Given the description of an element on the screen output the (x, y) to click on. 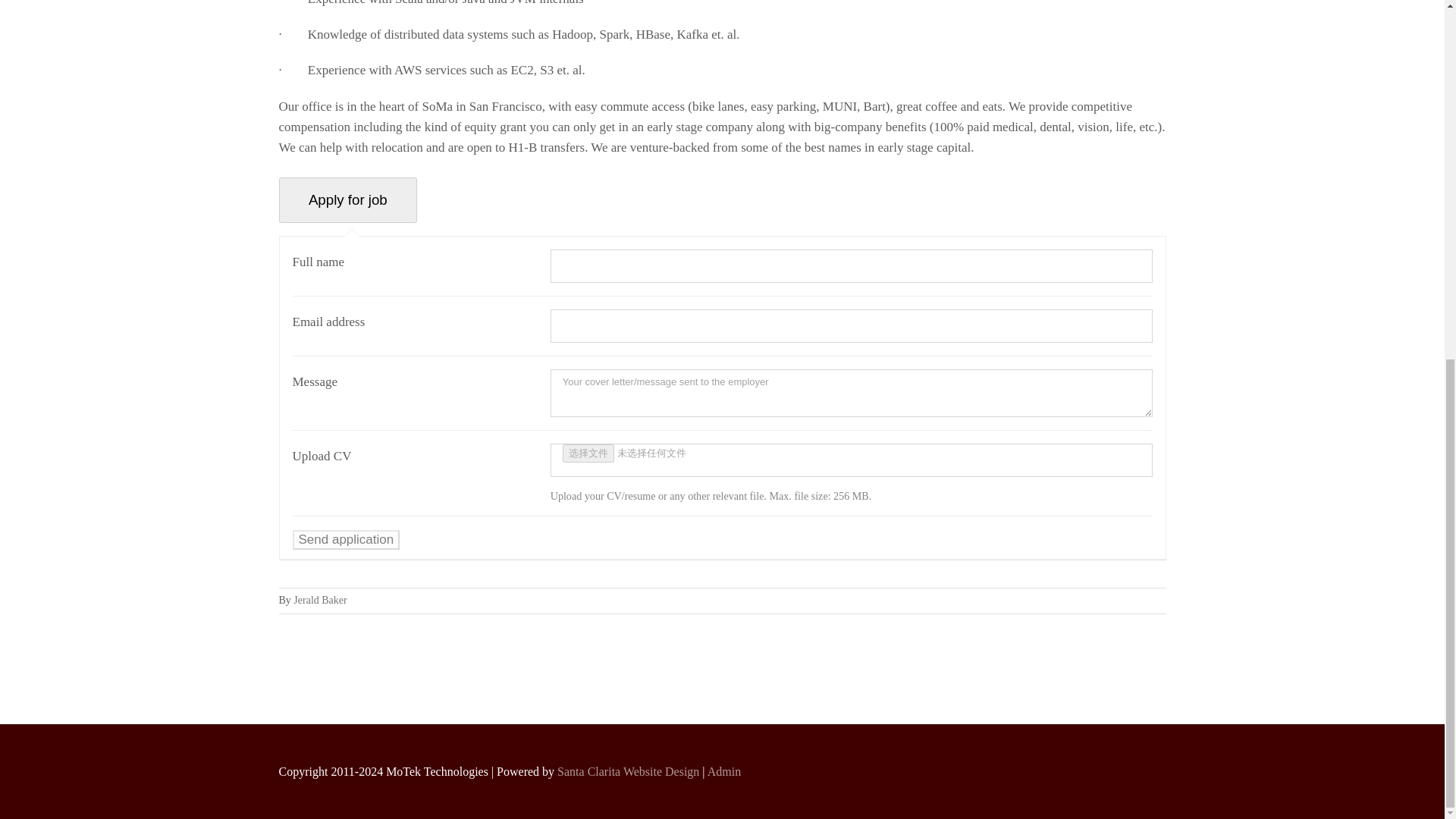
Jerald Baker (320, 600)
Santa Clarita Website Design (627, 771)
Send application (346, 539)
Apply for job (348, 199)
Send application (346, 539)
Admin (724, 771)
Posts by Jerald Baker (320, 600)
